Given the description of an element on the screen output the (x, y) to click on. 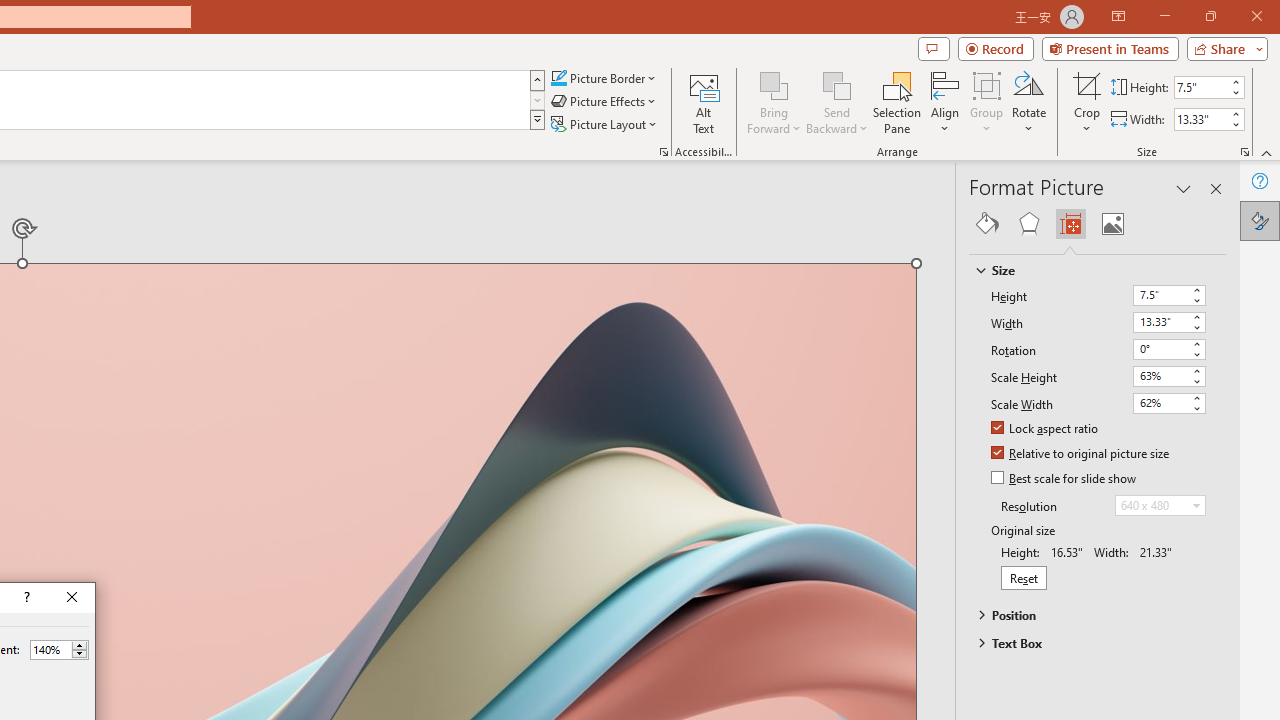
Position (1088, 615)
Picture Border Blue, Accent 1 (558, 78)
Send Backward (836, 84)
Shape Height (1201, 87)
Format Picture (1260, 220)
